Given the description of an element on the screen output the (x, y) to click on. 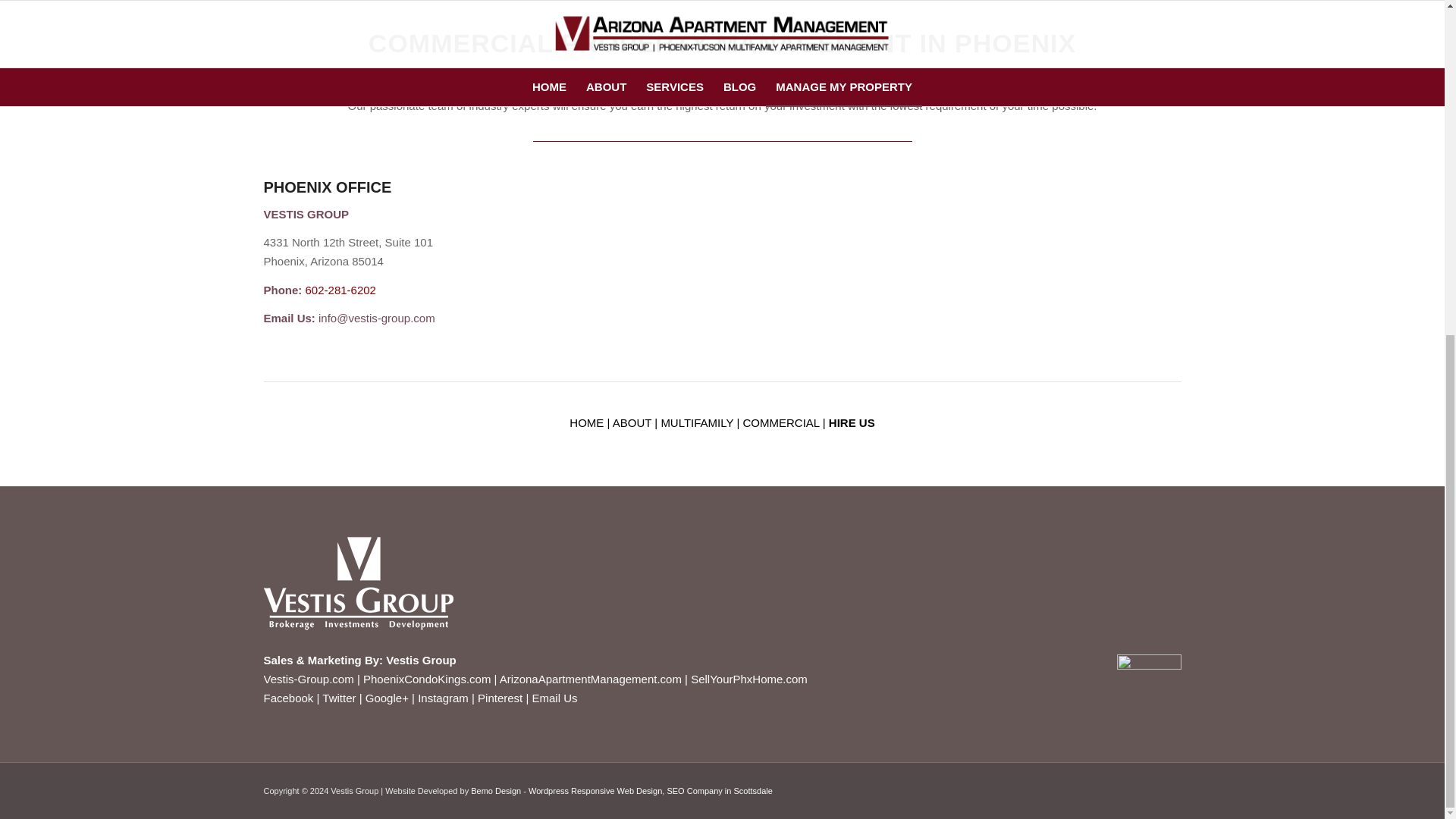
Arizona Apartment Management (590, 678)
PhoenixCondoKings.com (426, 678)
ABOUT (631, 422)
Wordpress Responsive Web Design (595, 790)
Vestis Group (421, 659)
HOME (586, 422)
SEO Company in Scottsdale (718, 790)
Email Us (555, 697)
Vestis-Group.com (308, 678)
Instagram (442, 697)
Pinterest (499, 697)
ArizonaApartmentManagement.com (590, 678)
Sell Your Phoenix Home (749, 678)
Twitter (338, 697)
Vestis Group (308, 678)
